Given the description of an element on the screen output the (x, y) to click on. 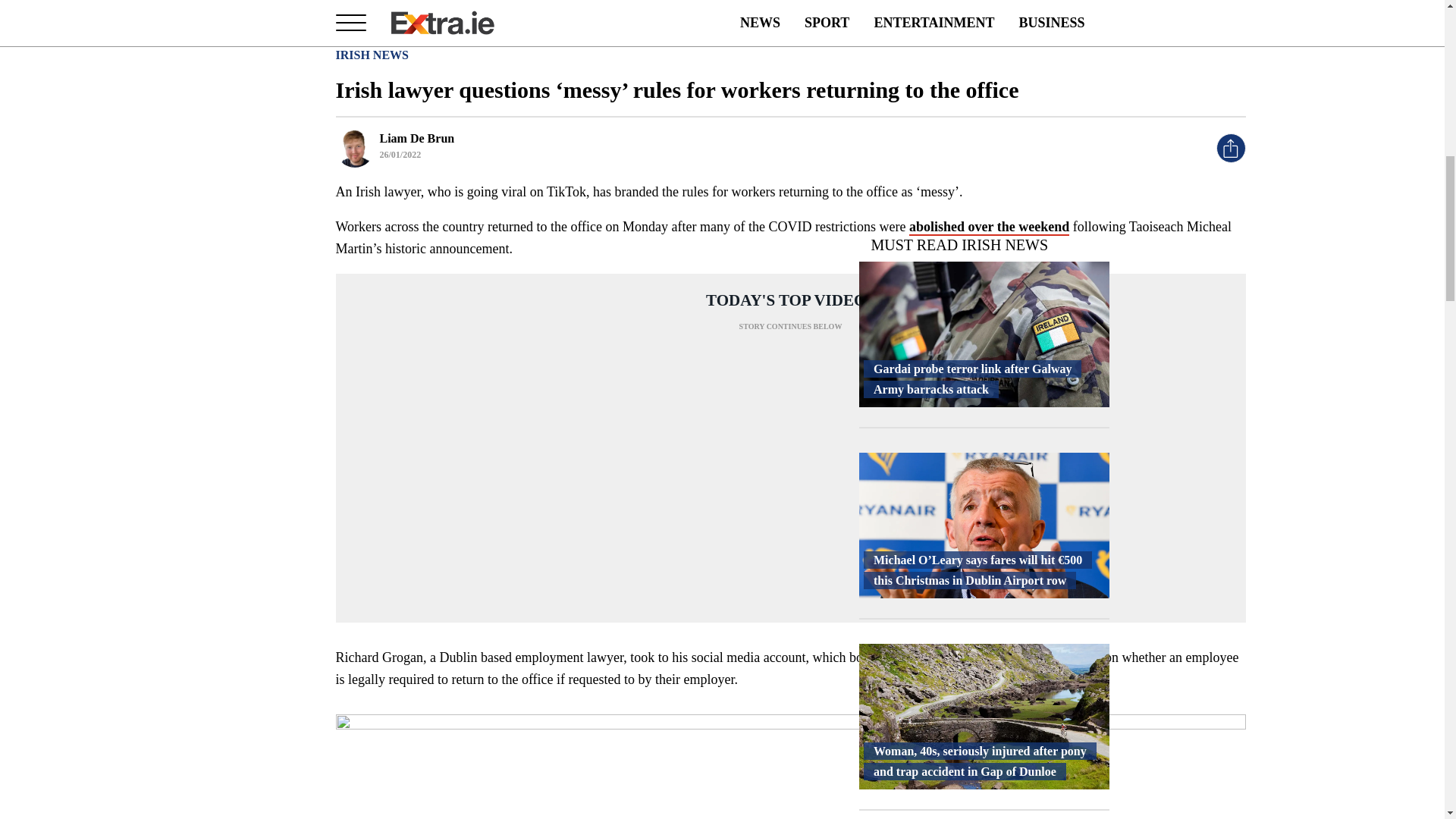
IRISH NEWS (370, 54)
Liam De Brun (416, 137)
abolished over the weekend (988, 227)
